Given the description of an element on the screen output the (x, y) to click on. 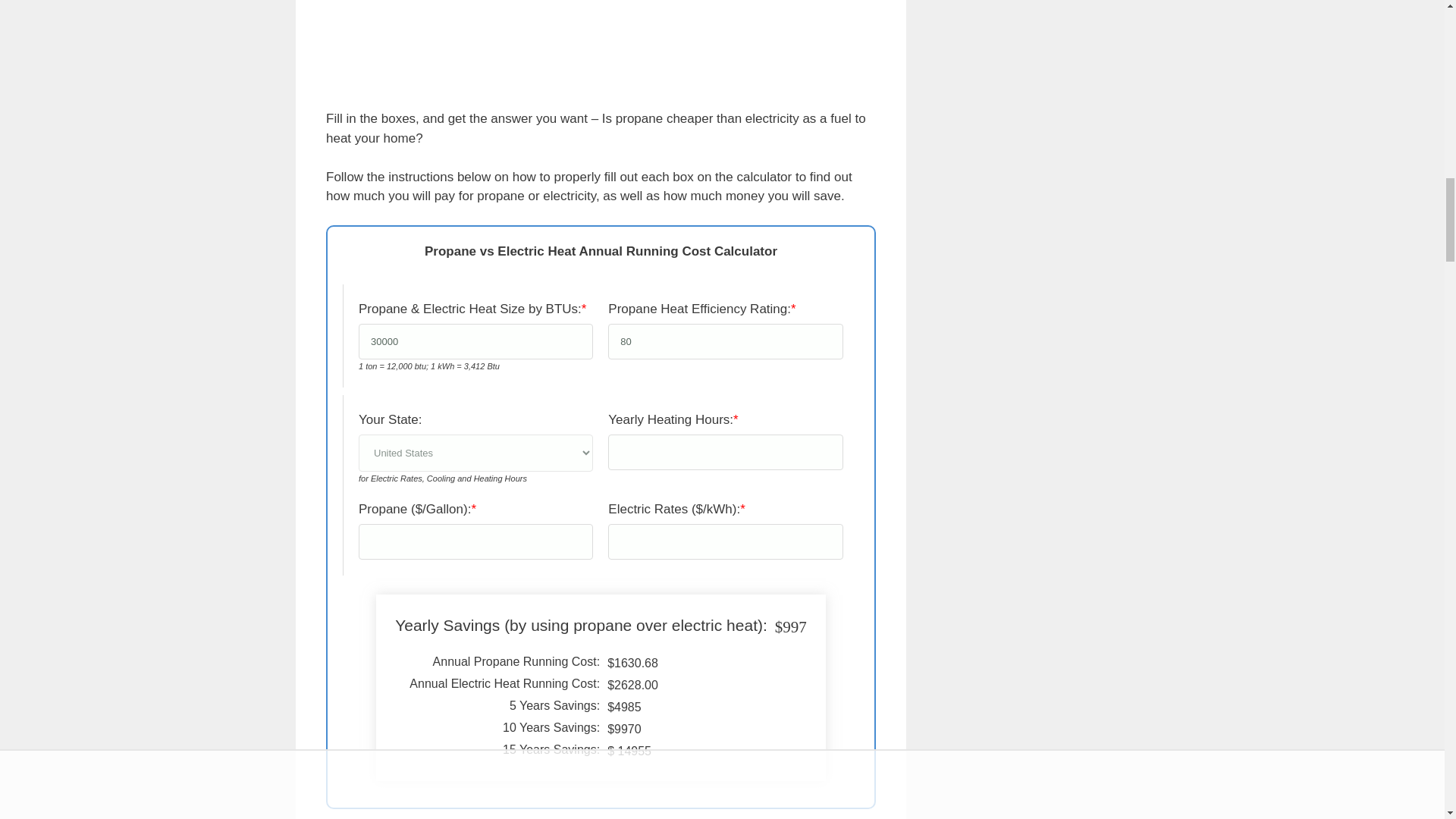
80 (725, 341)
30000 (475, 341)
